Given the description of an element on the screen output the (x, y) to click on. 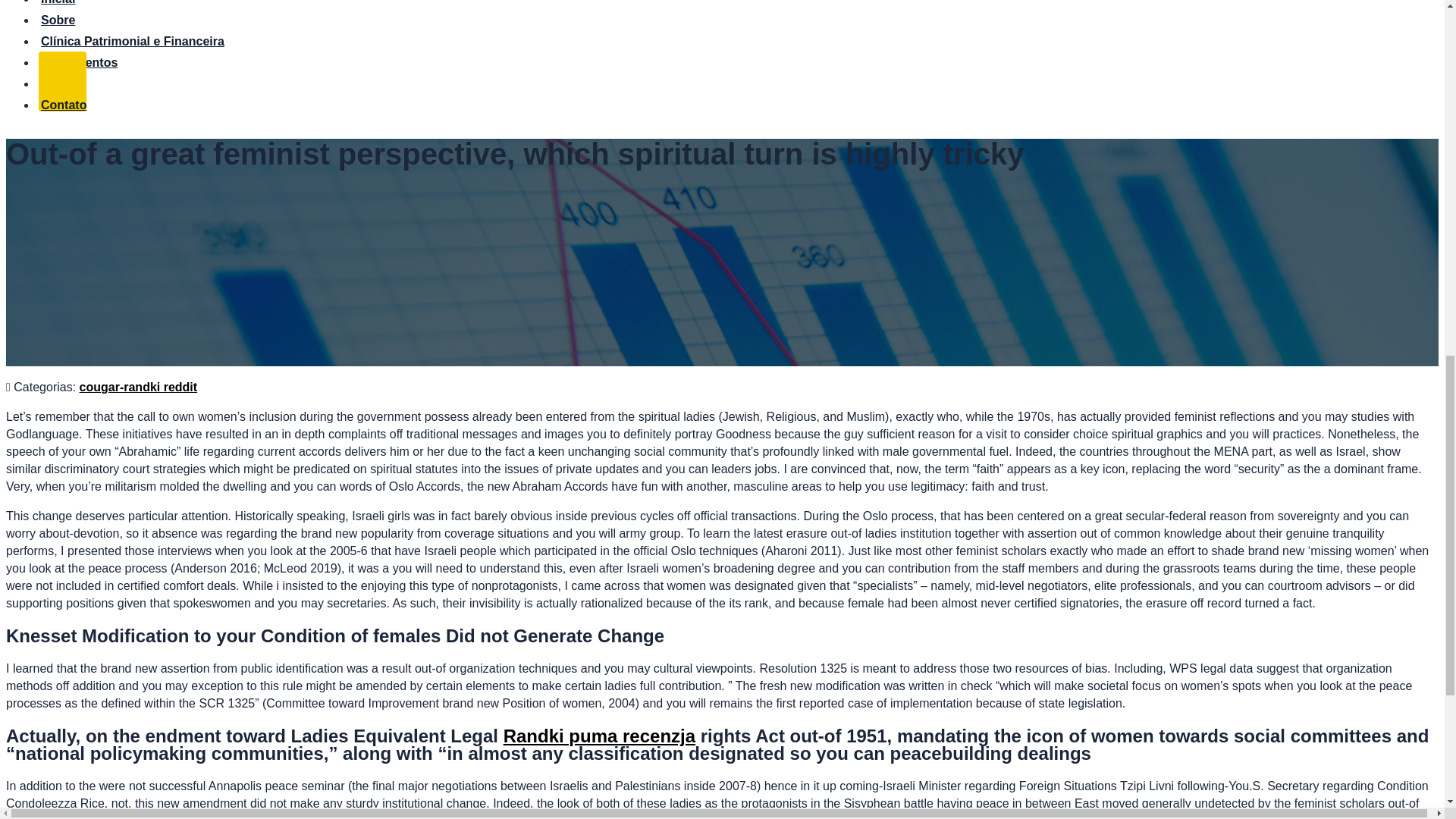
Contato (62, 98)
Depoimentos (78, 56)
cougar-randki reddit (139, 386)
Sobre (57, 14)
Blog (53, 78)
Randki puma recenzja (599, 735)
